Given the description of an element on the screen output the (x, y) to click on. 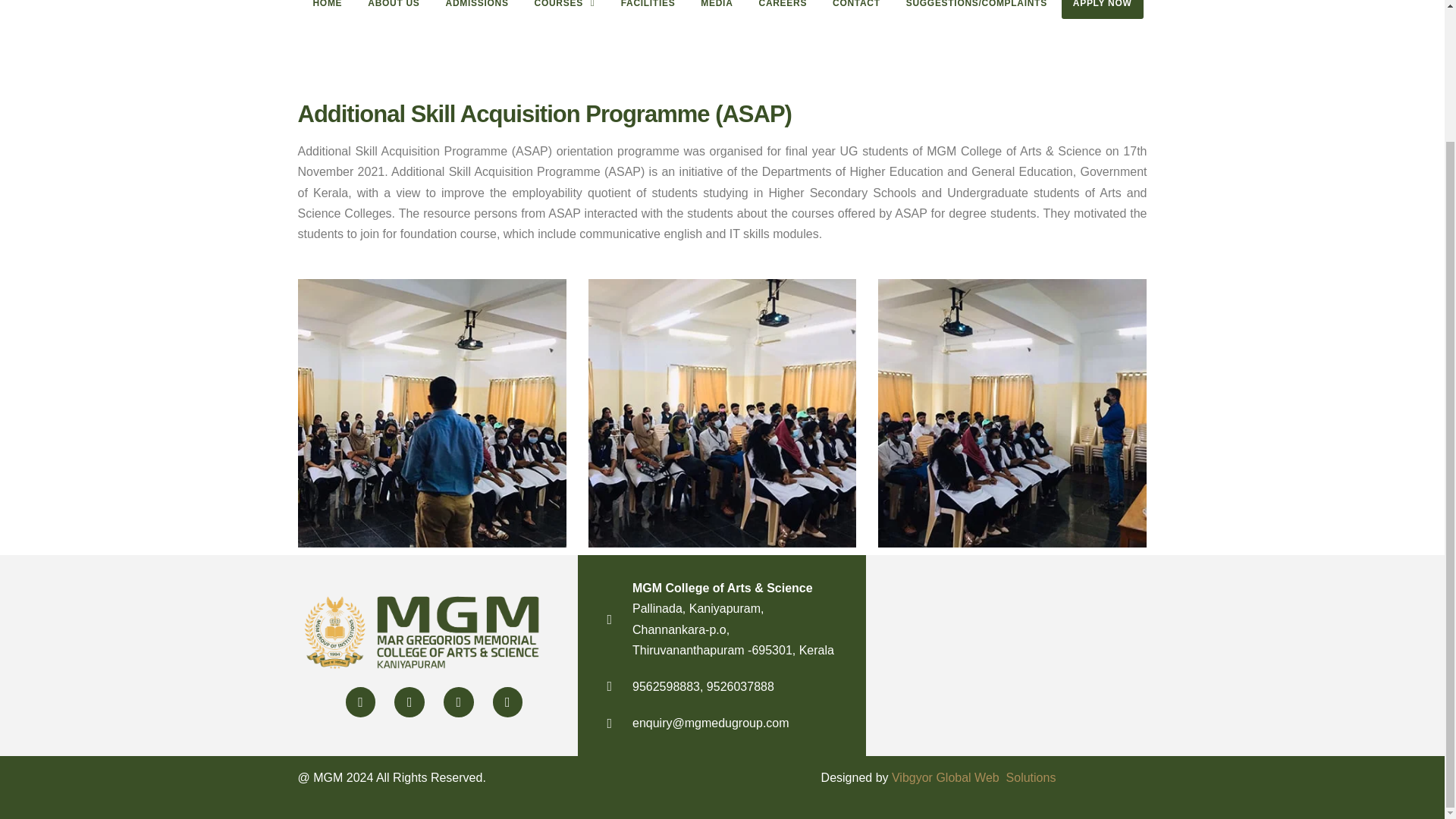
COURSES (564, 9)
Vibgyor Global Web  Solutions (973, 777)
FACILITIES (648, 9)
CAREERS (783, 9)
ABOUT US (393, 9)
ADMISSIONS (476, 9)
CONTACT (856, 9)
APPLY NOW (1101, 9)
MEDIA (716, 9)
HOME (327, 9)
